Given the description of an element on the screen output the (x, y) to click on. 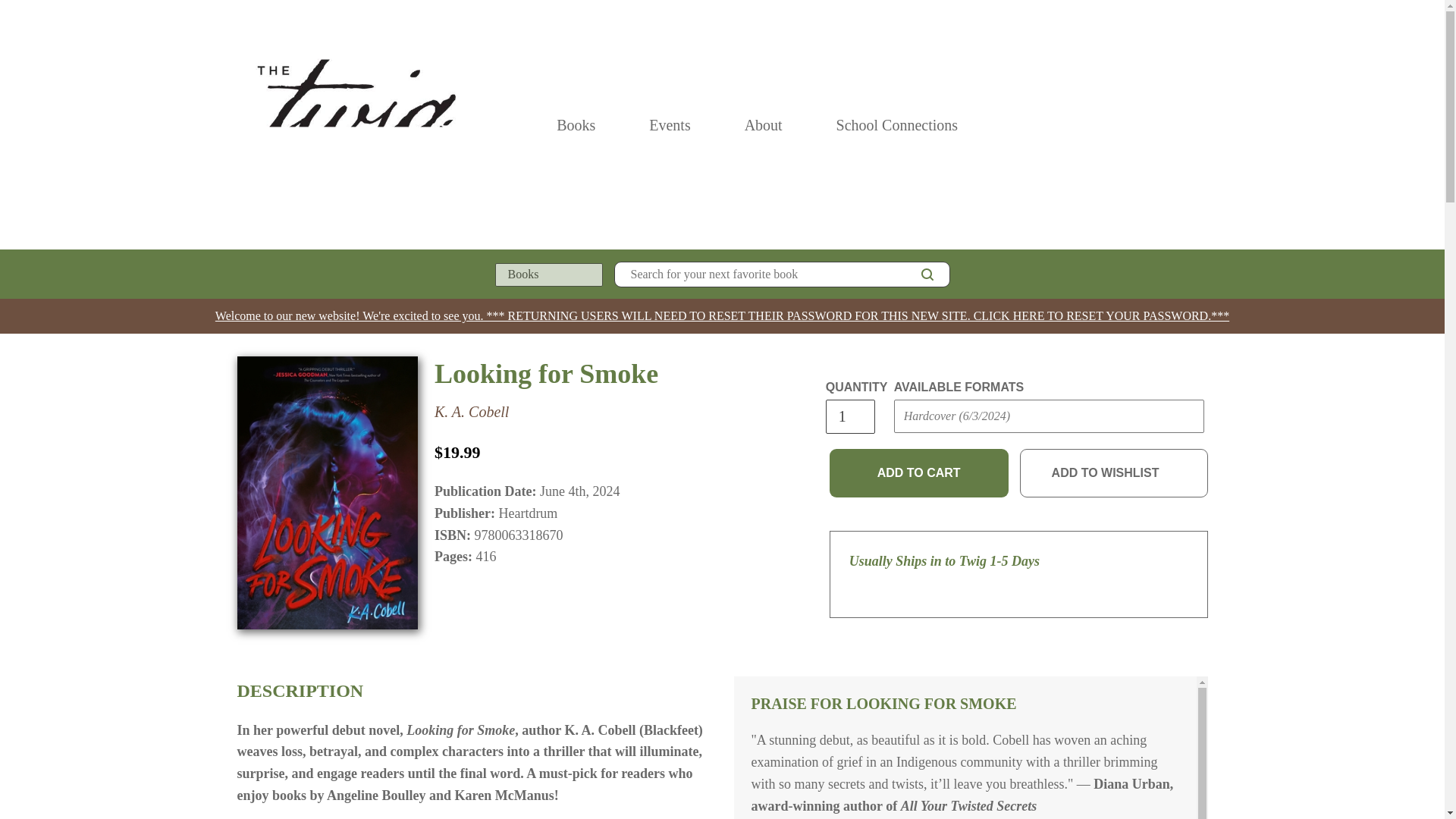
Cart (1201, 124)
School Connections (896, 124)
Add to cart (919, 472)
SEARCH (926, 274)
Log in (1134, 124)
Log in (1134, 124)
K. A. Cobell (471, 411)
Events (669, 124)
Wishlist (1168, 124)
Wishlists (1168, 124)
